Given the description of an element on the screen output the (x, y) to click on. 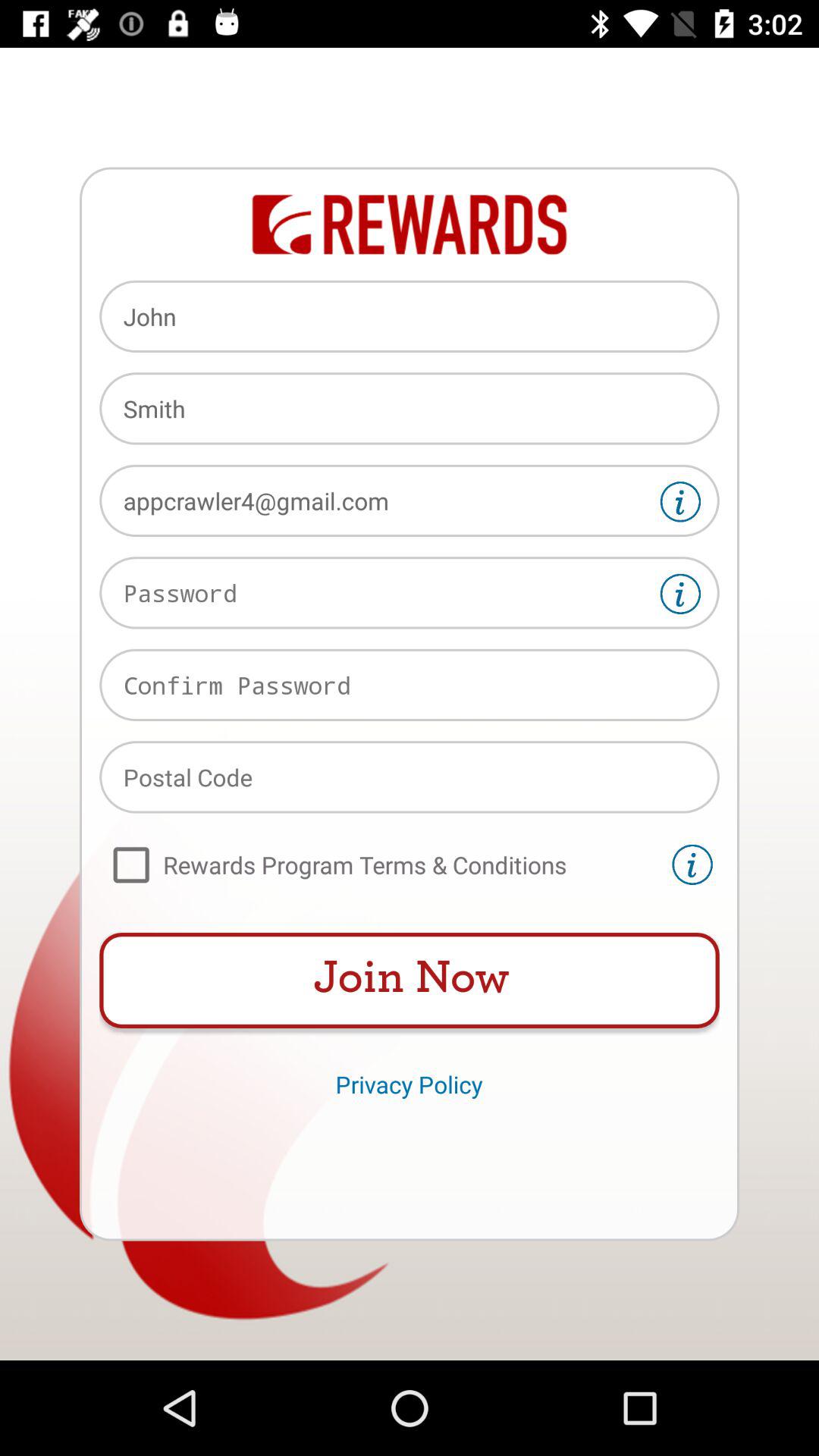
enter postal code here (409, 777)
